Given the description of an element on the screen output the (x, y) to click on. 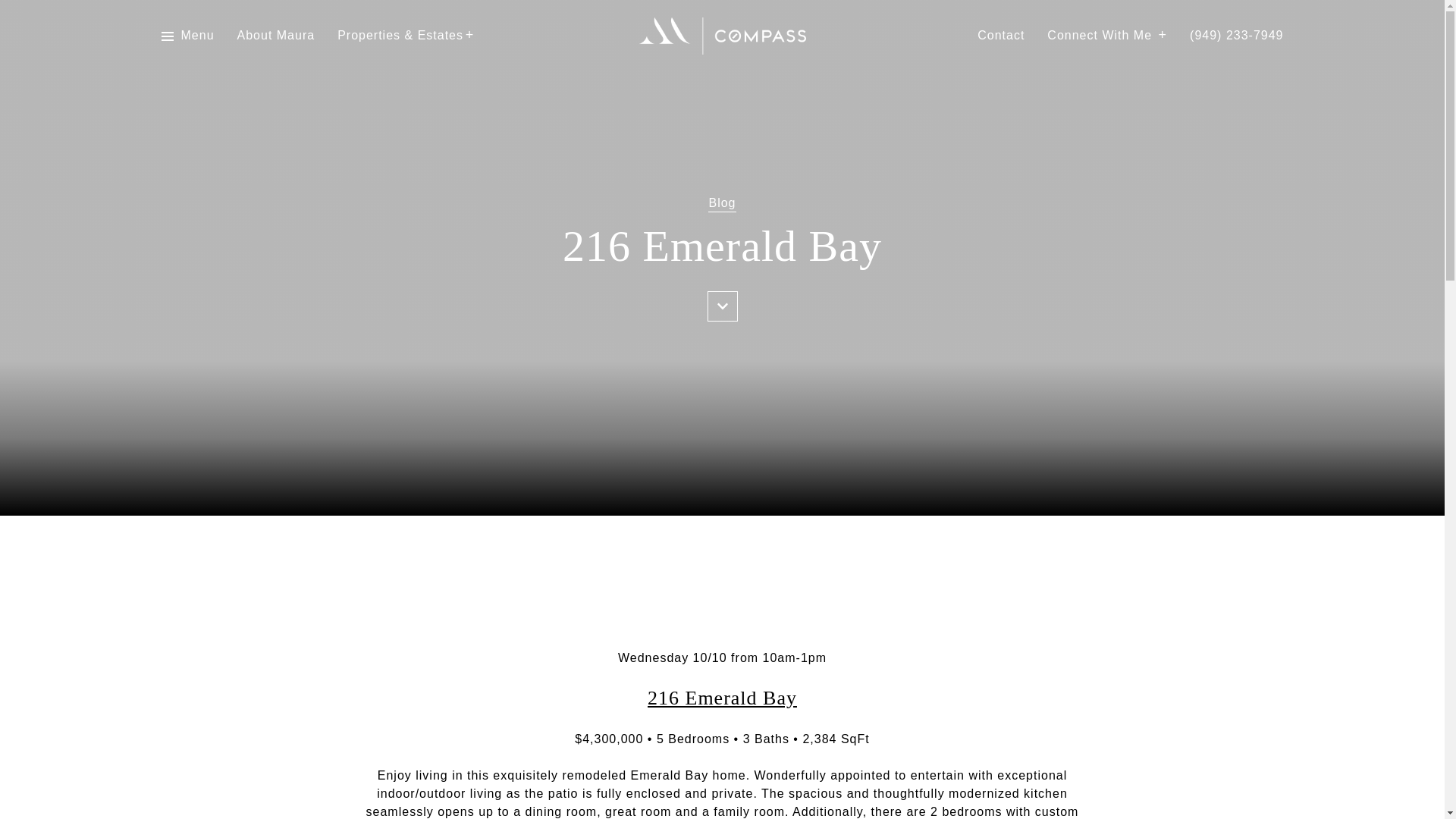
216 Emerald Bay (721, 698)
Menu (197, 35)
Menu (187, 35)
Contact (1000, 35)
About Maura (276, 35)
Connect With Me (1106, 35)
